Given the description of an element on the screen output the (x, y) to click on. 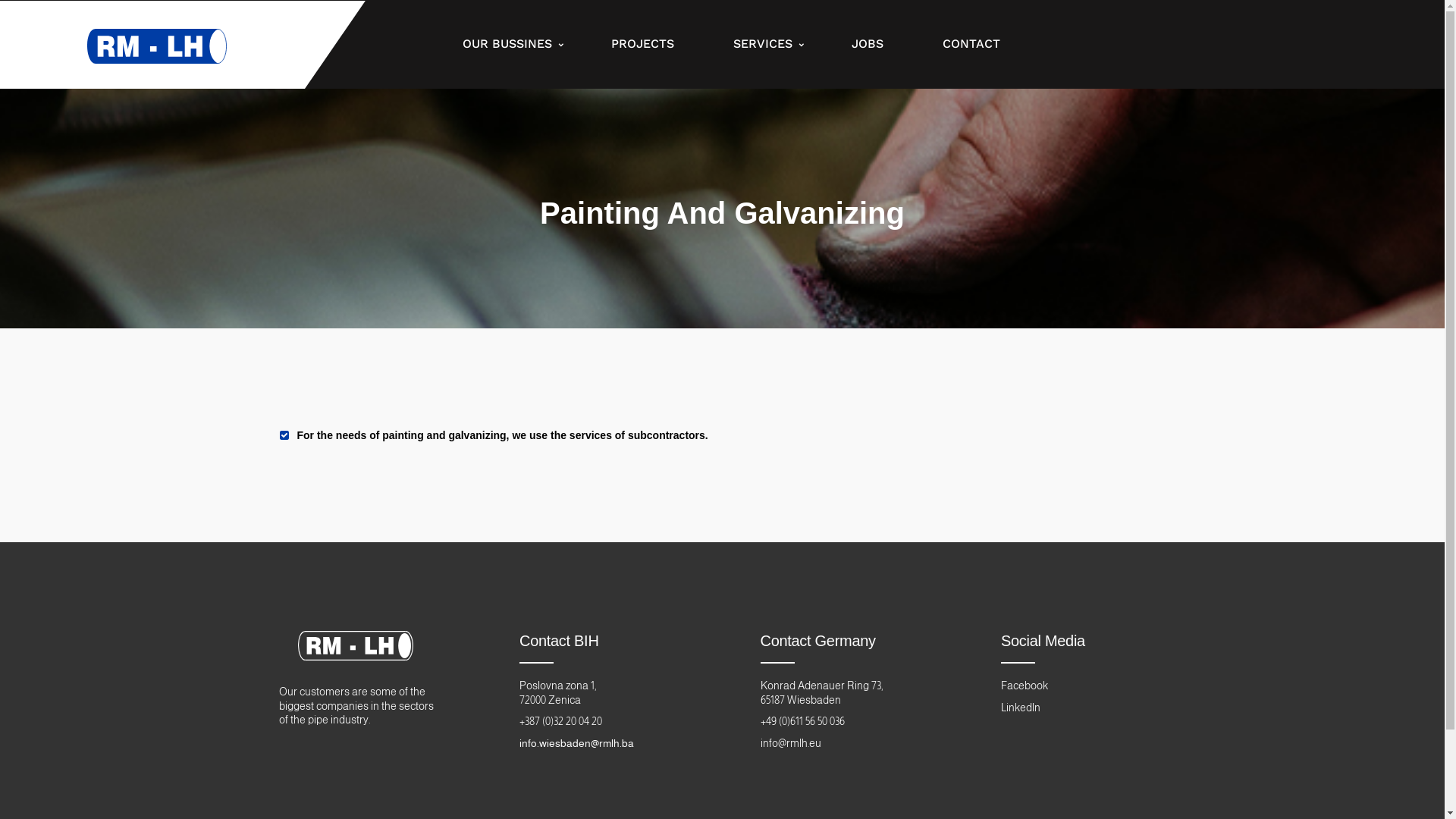
PROJECTS Element type: text (642, 44)
SERVICES Element type: text (762, 44)
OUR BUSSINES Element type: text (507, 44)
Facebook Element type: text (1024, 685)
CONTACT Element type: text (971, 44)
+387 (0)32 20 04 20 Element type: text (560, 721)
JOBS Element type: text (867, 44)
Linkedln Element type: text (1020, 707)
